Given the description of an element on the screen output the (x, y) to click on. 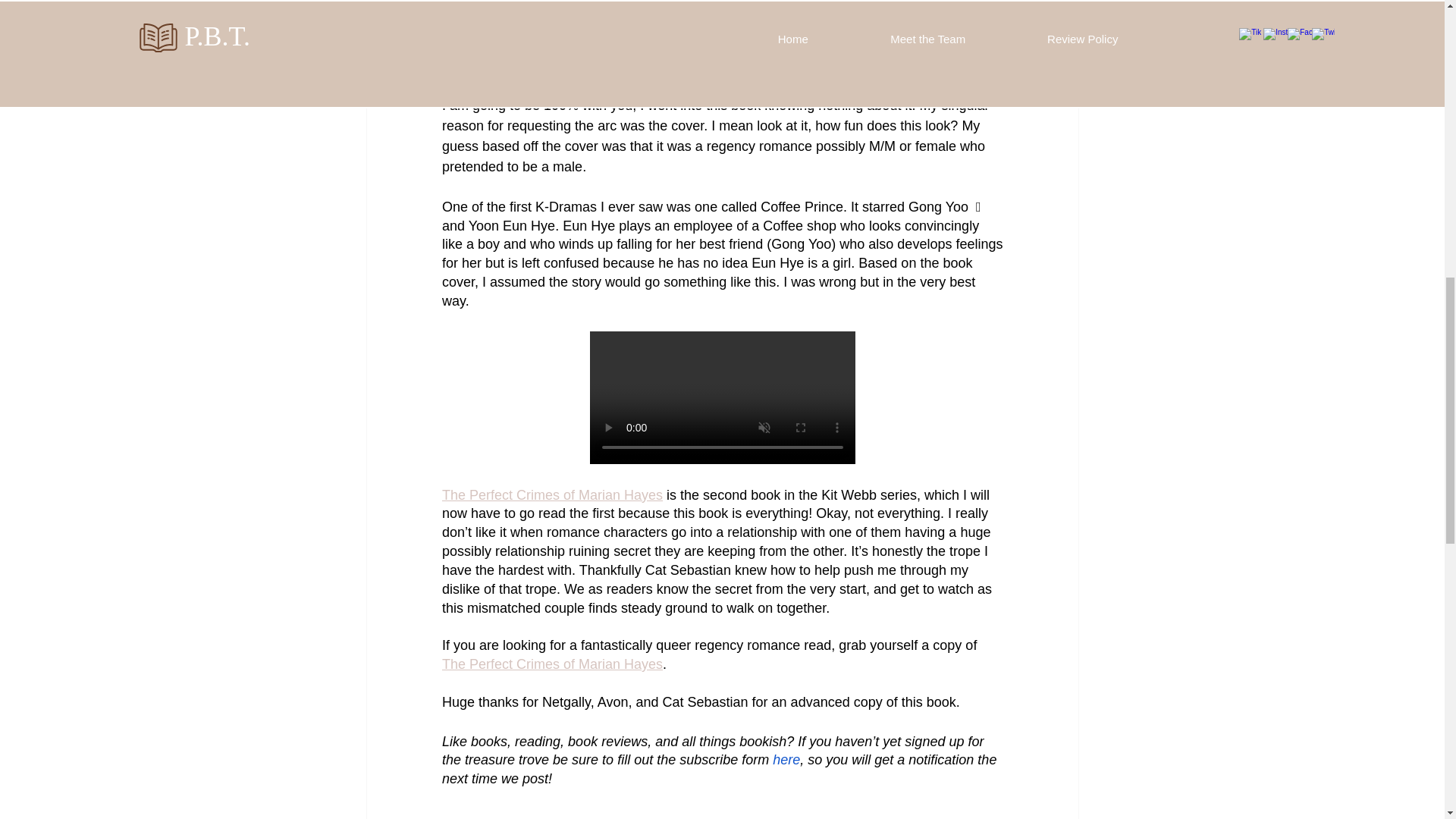
The Perfect Crimes of Marian Hayes (551, 494)
here (786, 759)
The Perfect Crimes of Marian Hayes (551, 663)
